Given the description of an element on the screen output the (x, y) to click on. 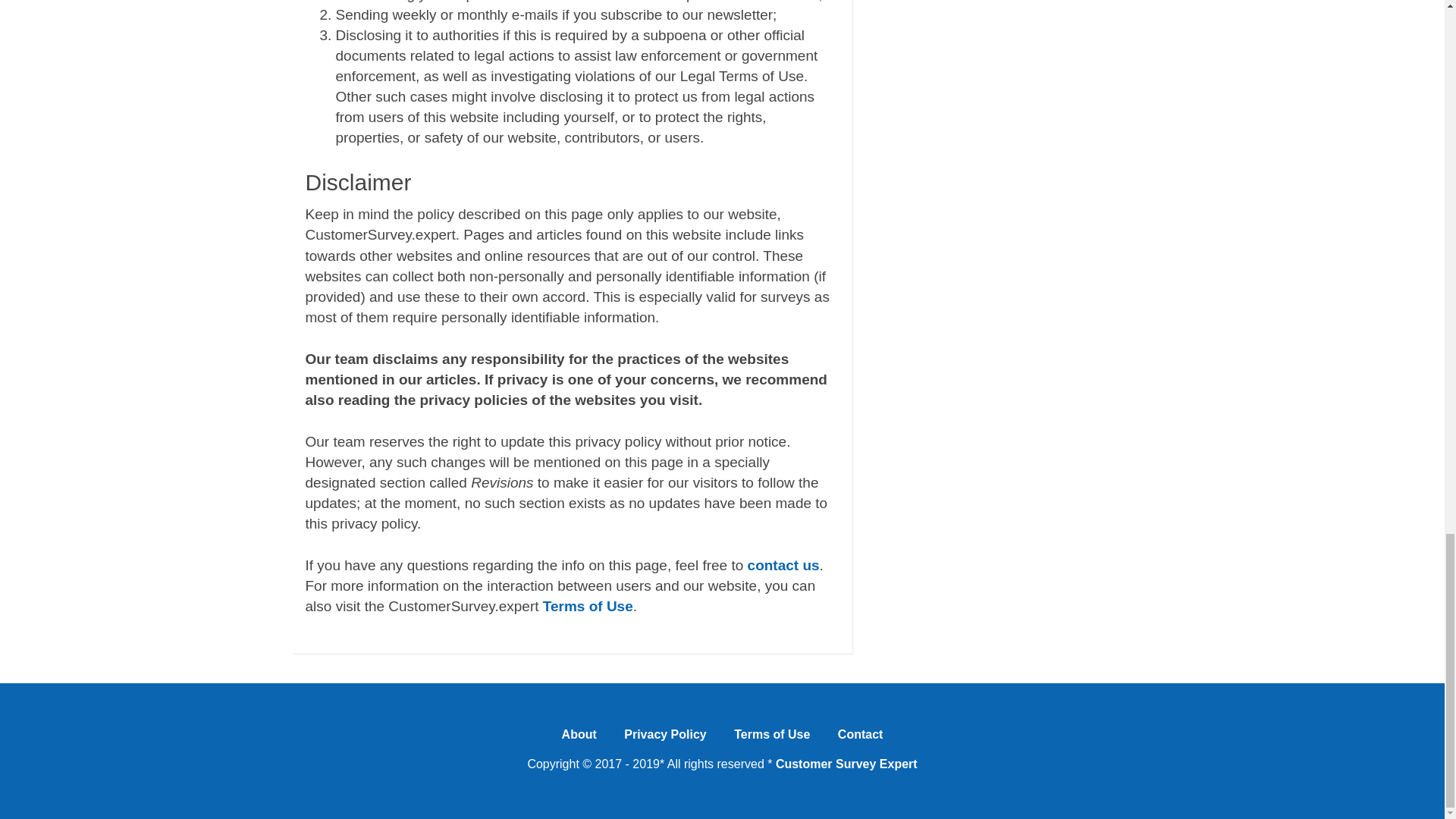
Customer Survey Expert (846, 763)
Privacy Policy (665, 738)
contact us (783, 565)
Terms of Use (588, 606)
Terms of Use (772, 738)
Contact (860, 738)
About (579, 738)
